Given the description of an element on the screen output the (x, y) to click on. 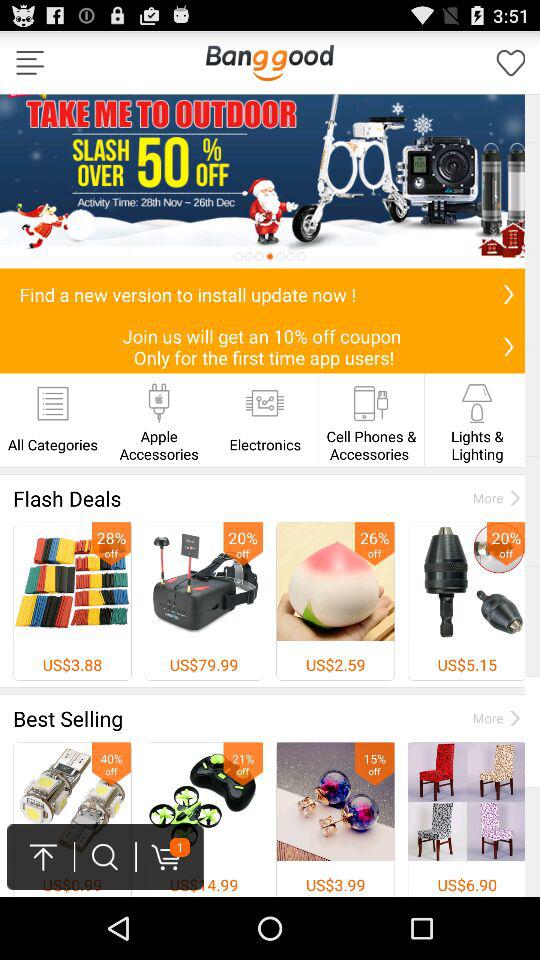
open main menu (29, 62)
